Given the description of an element on the screen output the (x, y) to click on. 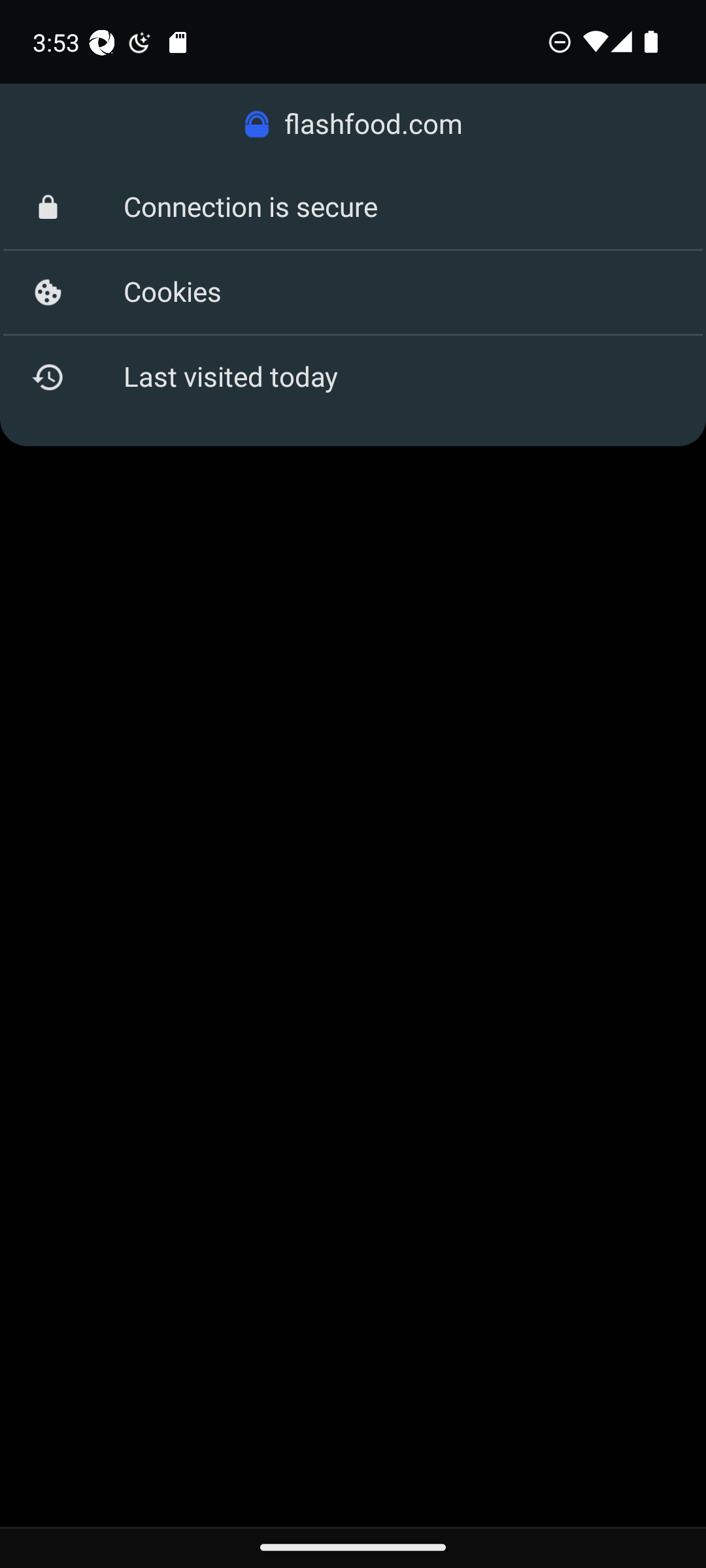
flashfood.com (353, 124)
Connection is secure (353, 207)
Cookies (353, 291)
Last visited today (353, 376)
